Given the description of an element on the screen output the (x, y) to click on. 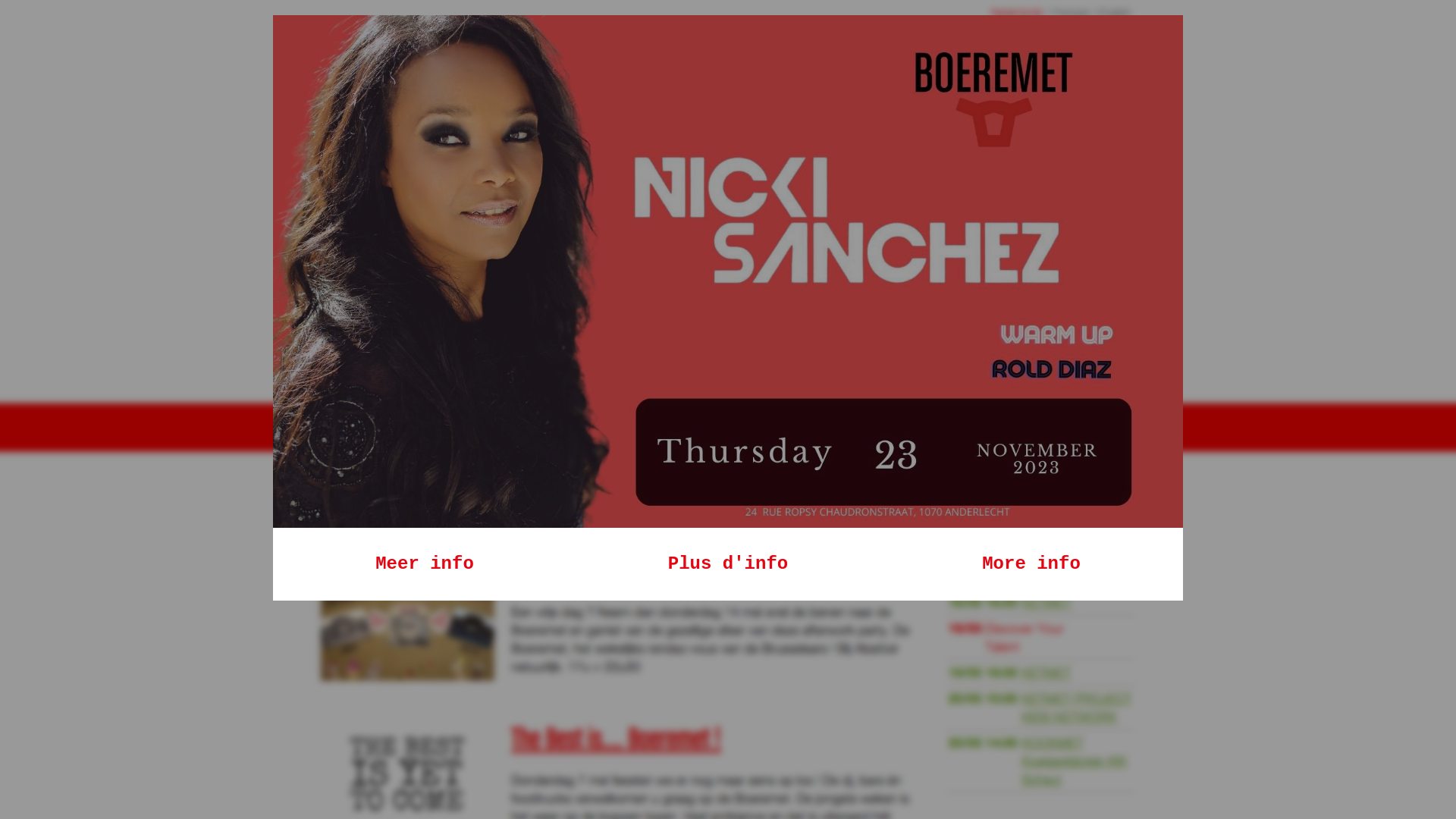
More info Element type: text (1031, 563)
Plus d'info Element type: text (727, 563)
Meer info Element type: text (424, 563)
